Given the description of an element on the screen output the (x, y) to click on. 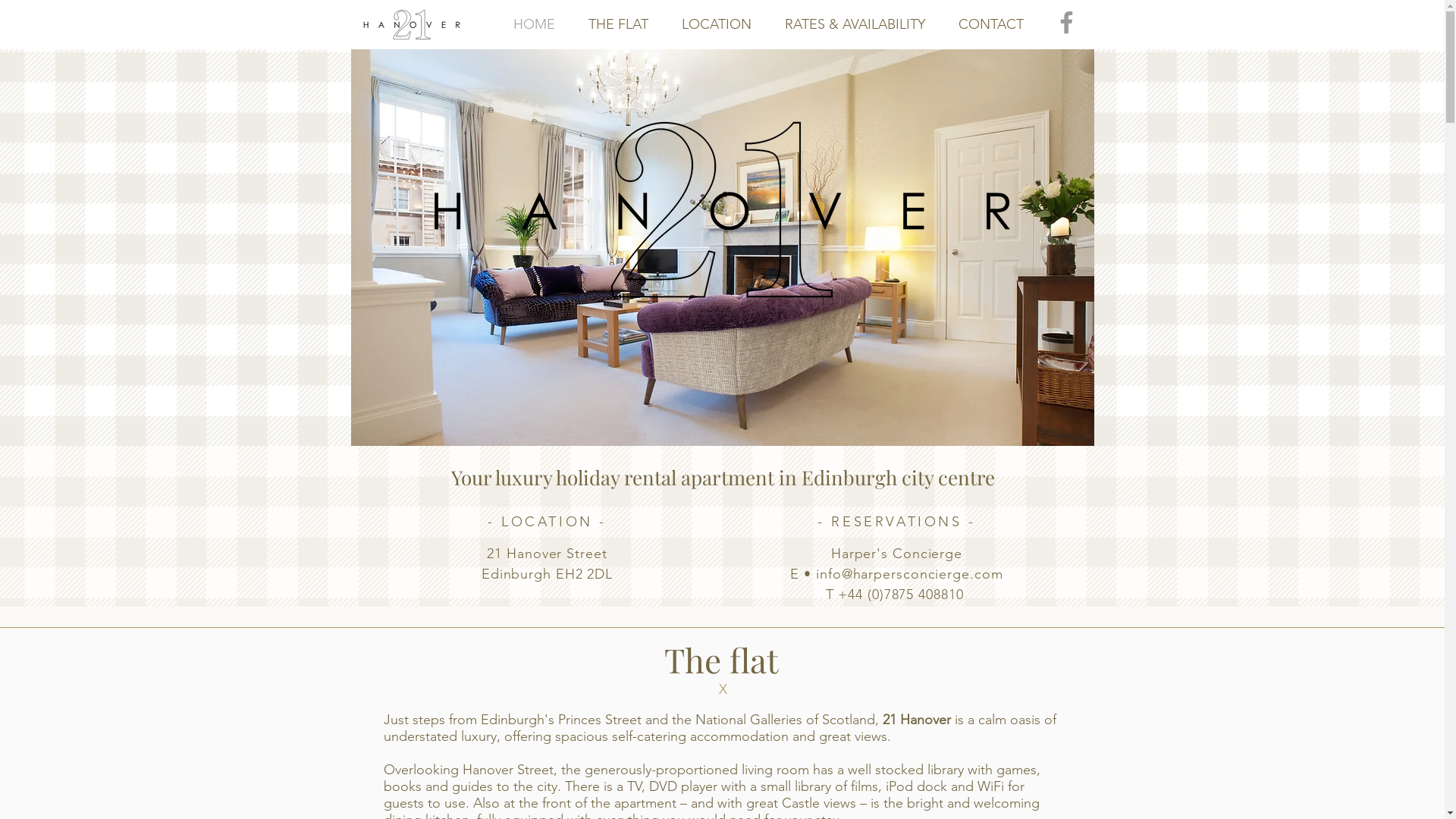
LOCATION Element type: text (715, 24)
RATES & AVAILABILITY Element type: text (854, 24)
CONTACT Element type: text (990, 24)
HOME Element type: text (533, 24)
T +44 (0)7875 408810  Element type: text (896, 594)
21layerWHITE.png Element type: hover (426, 24)
com Element type: text (988, 573)
THE FLAT Element type: text (618, 24)
